Given the description of an element on the screen output the (x, y) to click on. 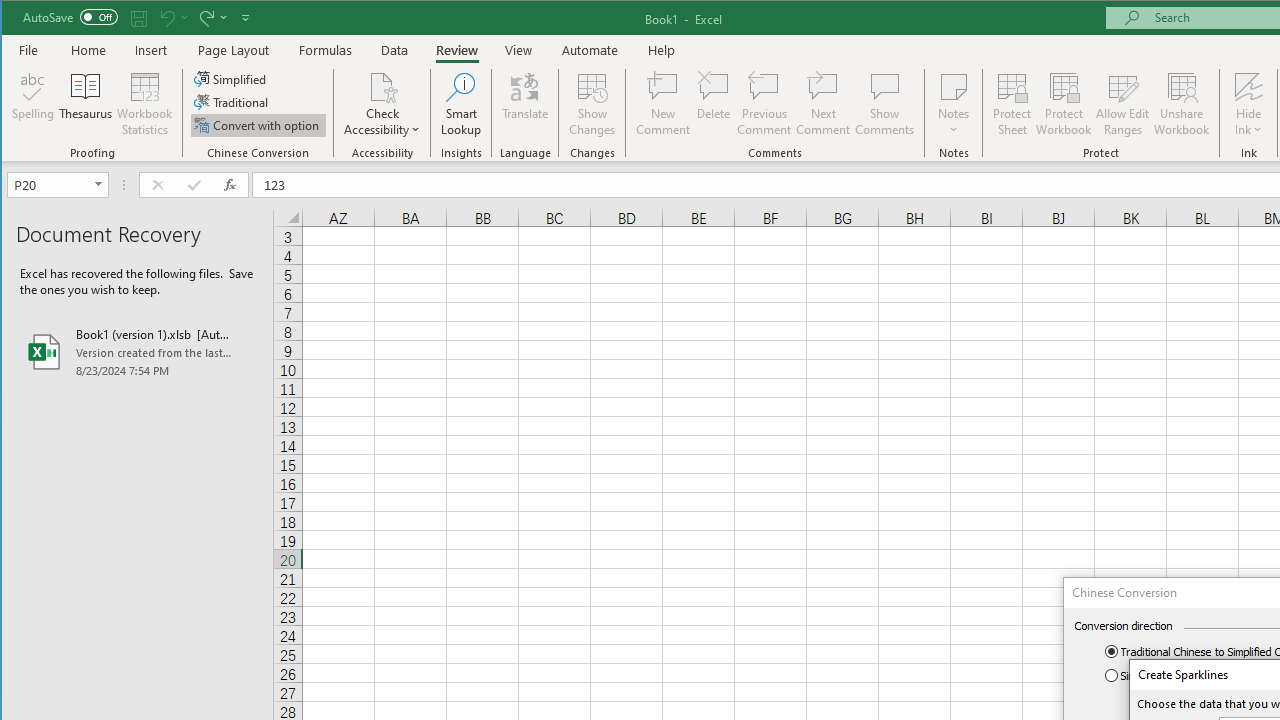
Traditional (232, 101)
Workbook Statistics (145, 104)
Convert with option (258, 124)
Spelling... (33, 104)
Previous Comment (763, 104)
Next Comment (822, 104)
